Given the description of an element on the screen output the (x, y) to click on. 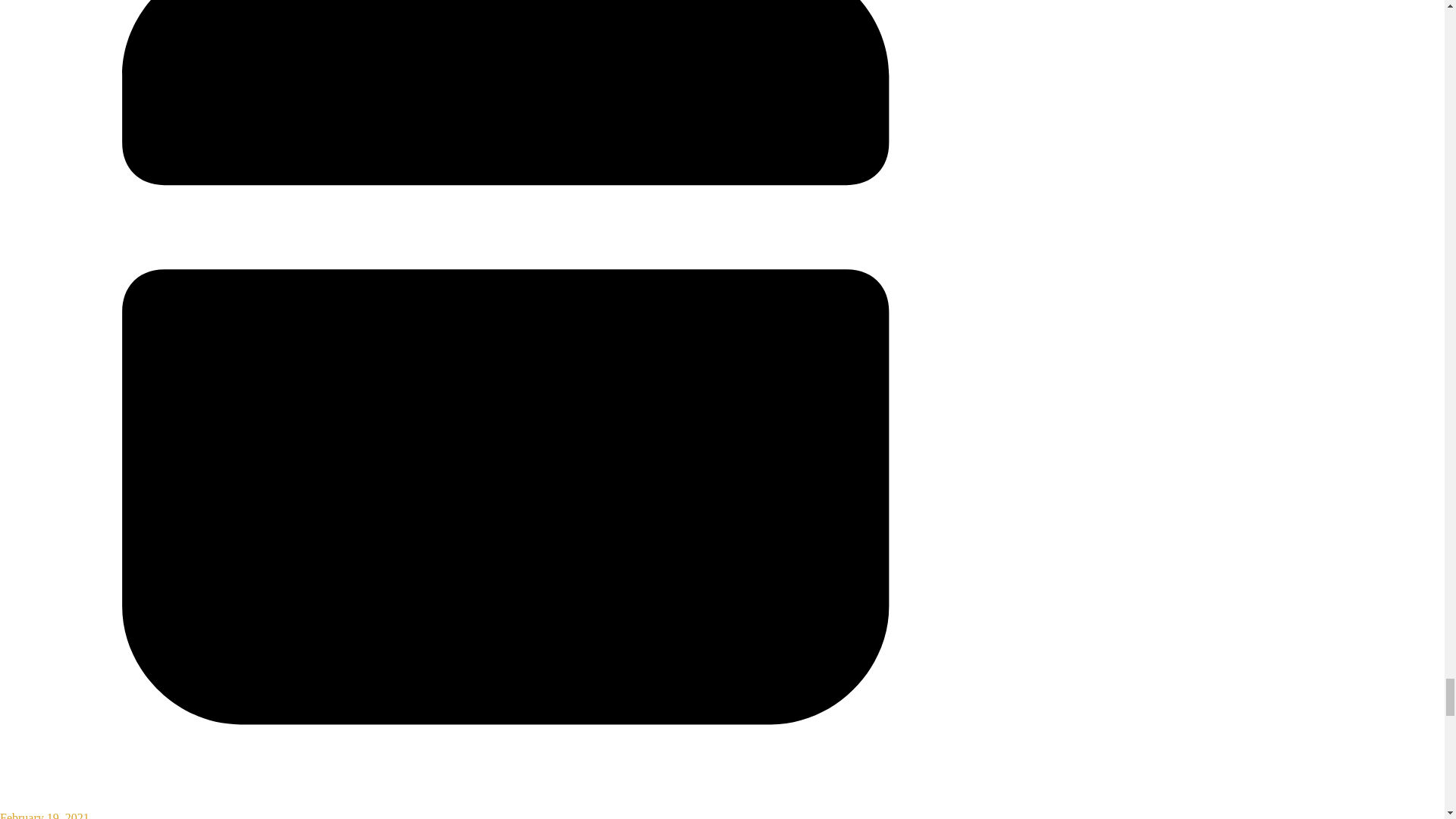
February 19, 2021 (505, 808)
3:57 pm (505, 808)
